Given the description of an element on the screen output the (x, y) to click on. 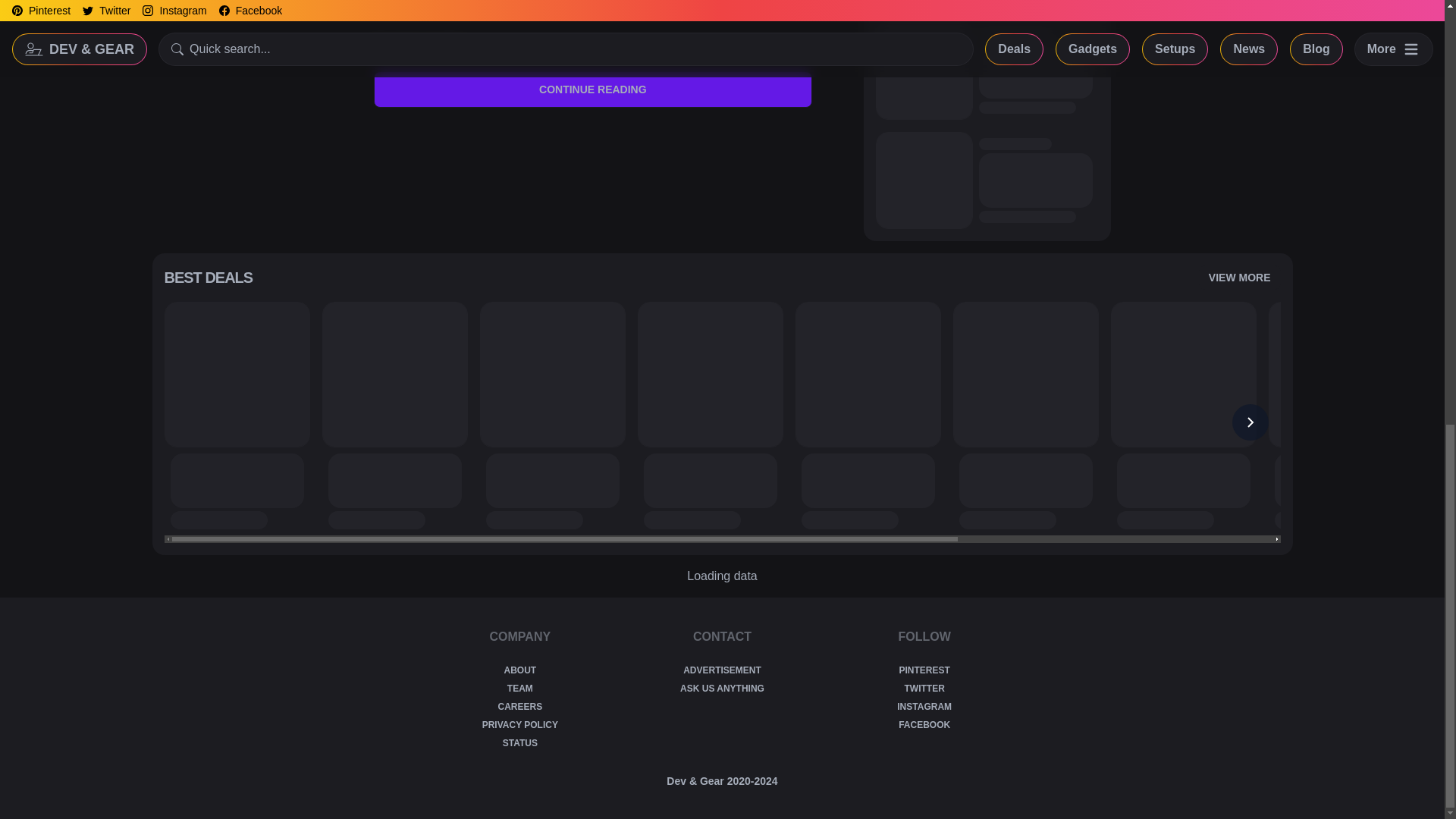
CONTINUE READING (593, 89)
VIEW MORE (1239, 277)
